Given the description of an element on the screen output the (x, y) to click on. 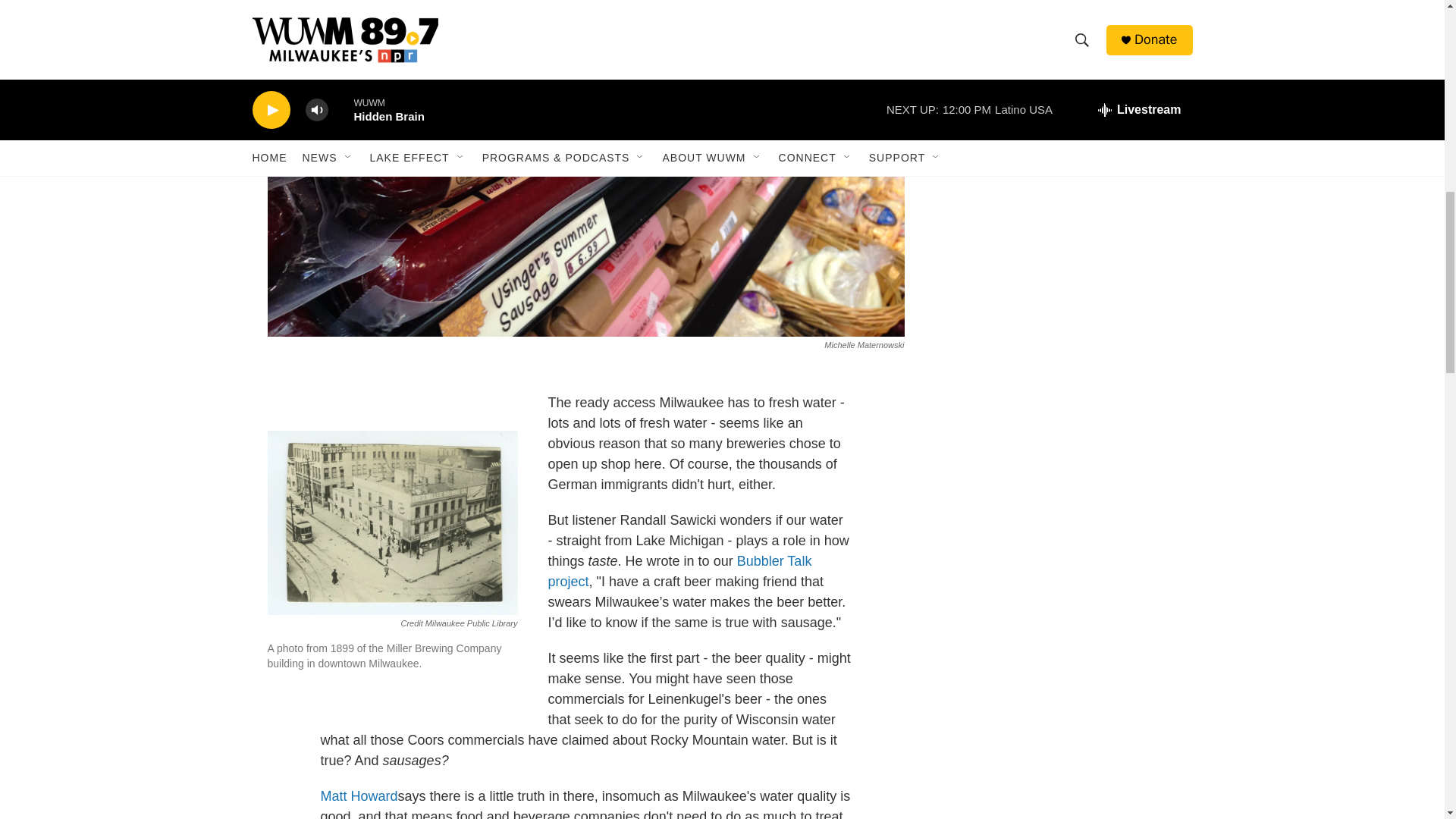
3rd party ad content (1062, 80)
